Given the description of an element on the screen output the (x, y) to click on. 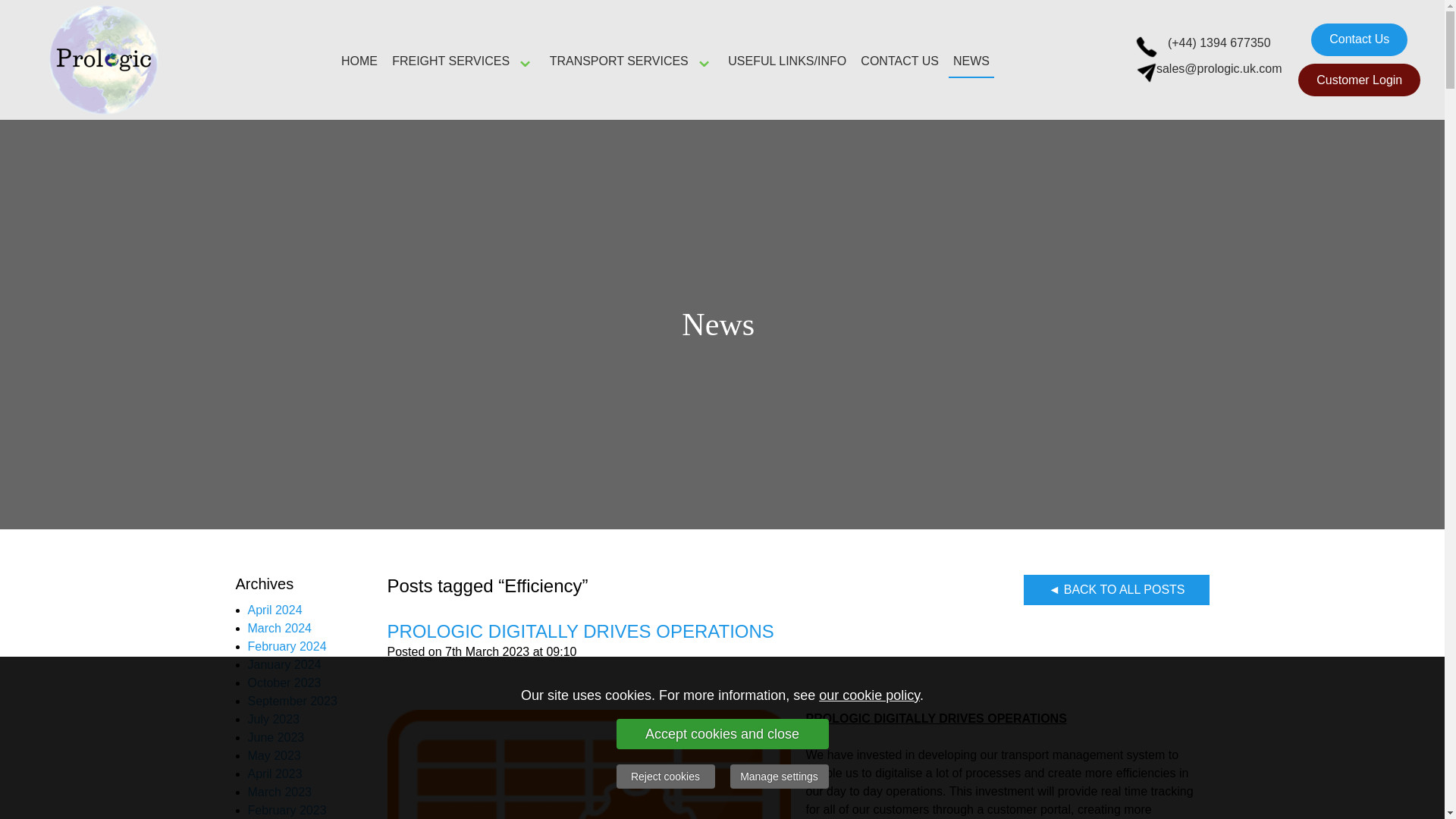
June 2023 (275, 737)
February 2023 (286, 809)
PROLOGIC DIGITALLY DRIVES OPERATIONS (580, 630)
NEWS (971, 60)
July 2023 (273, 718)
September 2023 (291, 700)
HOME (359, 60)
CONTACT US (899, 60)
April 2023 (274, 773)
March 2024 (279, 627)
BACK TO ALL POSTS (1115, 589)
Contact Us (1359, 39)
October 2023 (283, 682)
January 2024 (283, 664)
May 2023 (273, 755)
